Given the description of an element on the screen output the (x, y) to click on. 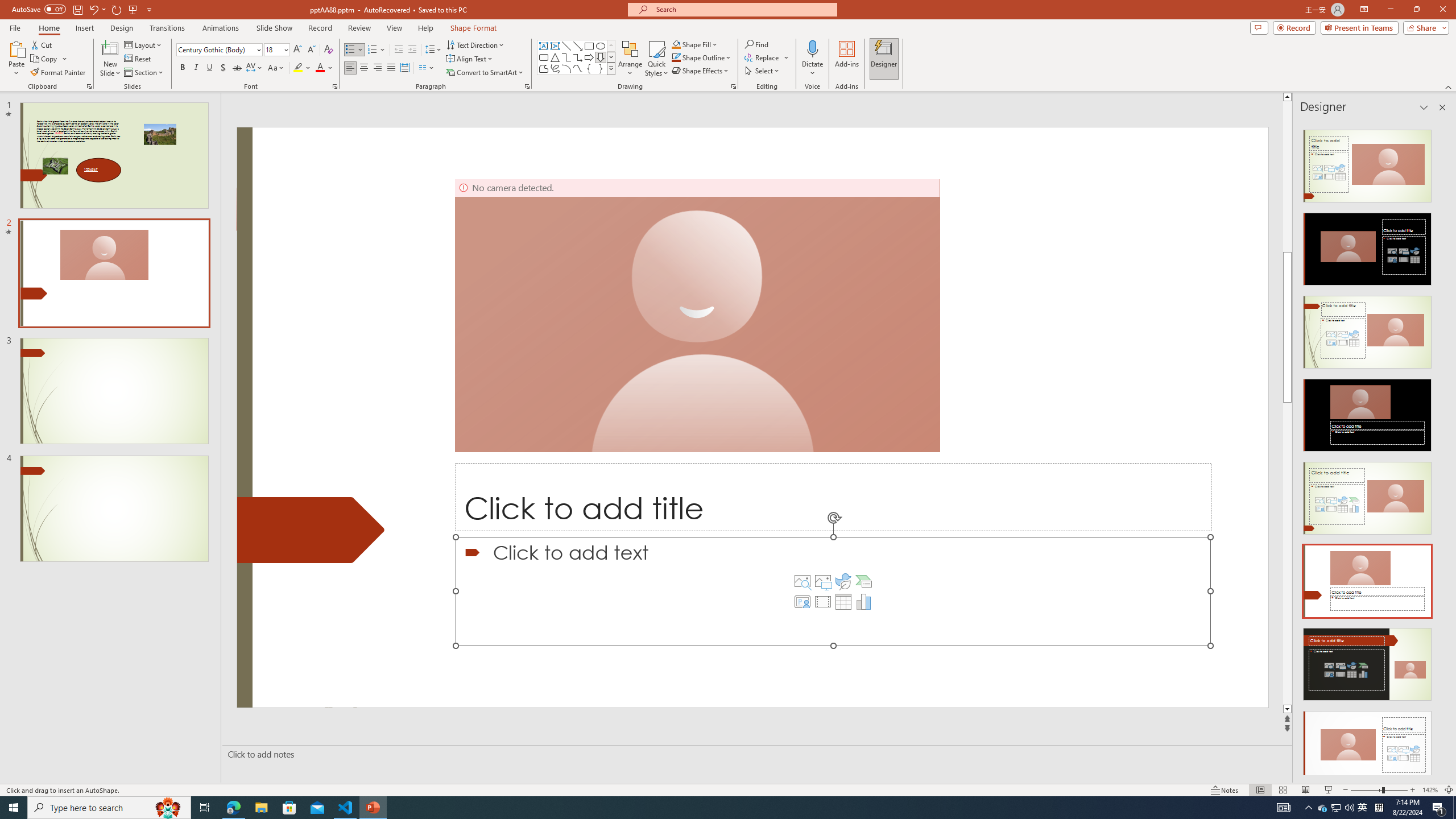
Arrange (630, 58)
Paste (16, 48)
Text Highlight Color Yellow (297, 67)
Font Color Red (320, 67)
Class: NetUIScrollBar (1441, 447)
Customize Quick Access Toolbar (149, 9)
Slide (114, 508)
Slide Notes (754, 754)
More Options (812, 68)
Slide Show (1328, 790)
Font (219, 49)
Find... (756, 44)
Format Object... (733, 85)
Task Pane Options (1423, 107)
Shape Outline (701, 56)
